Given the description of an element on the screen output the (x, y) to click on. 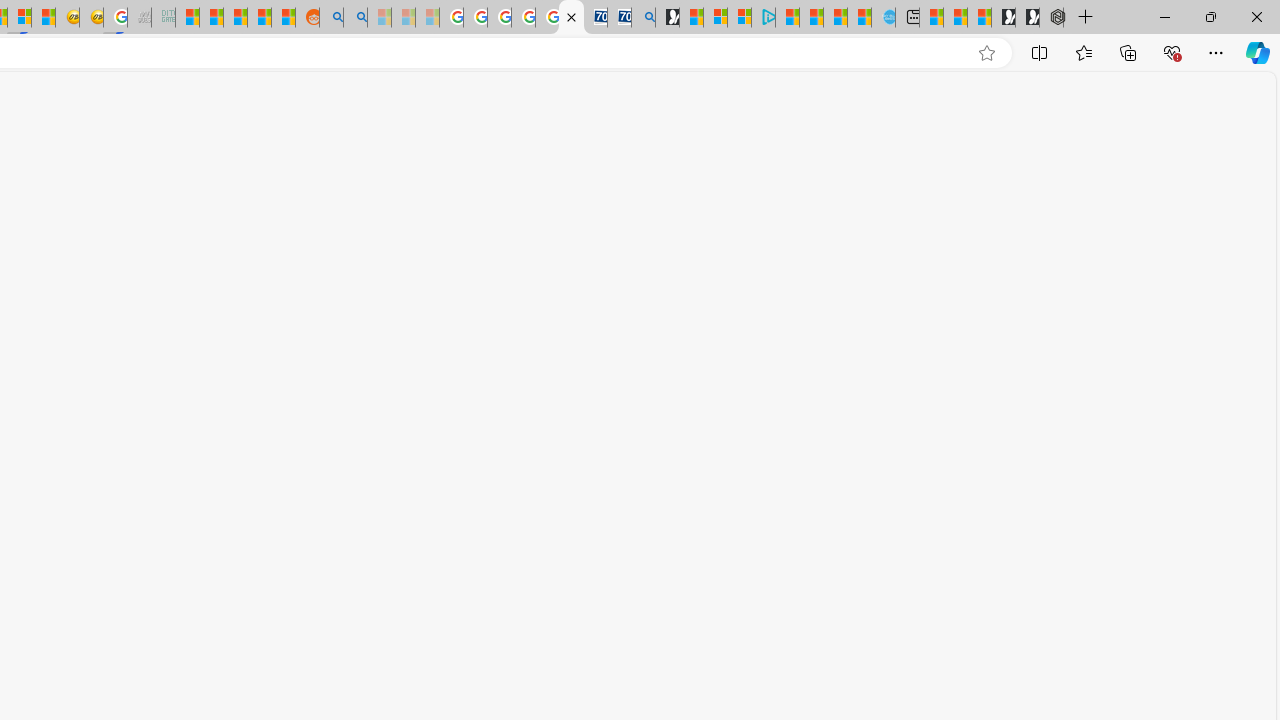
Utah sues federal government - Search (355, 17)
